Given the description of an element on the screen output the (x, y) to click on. 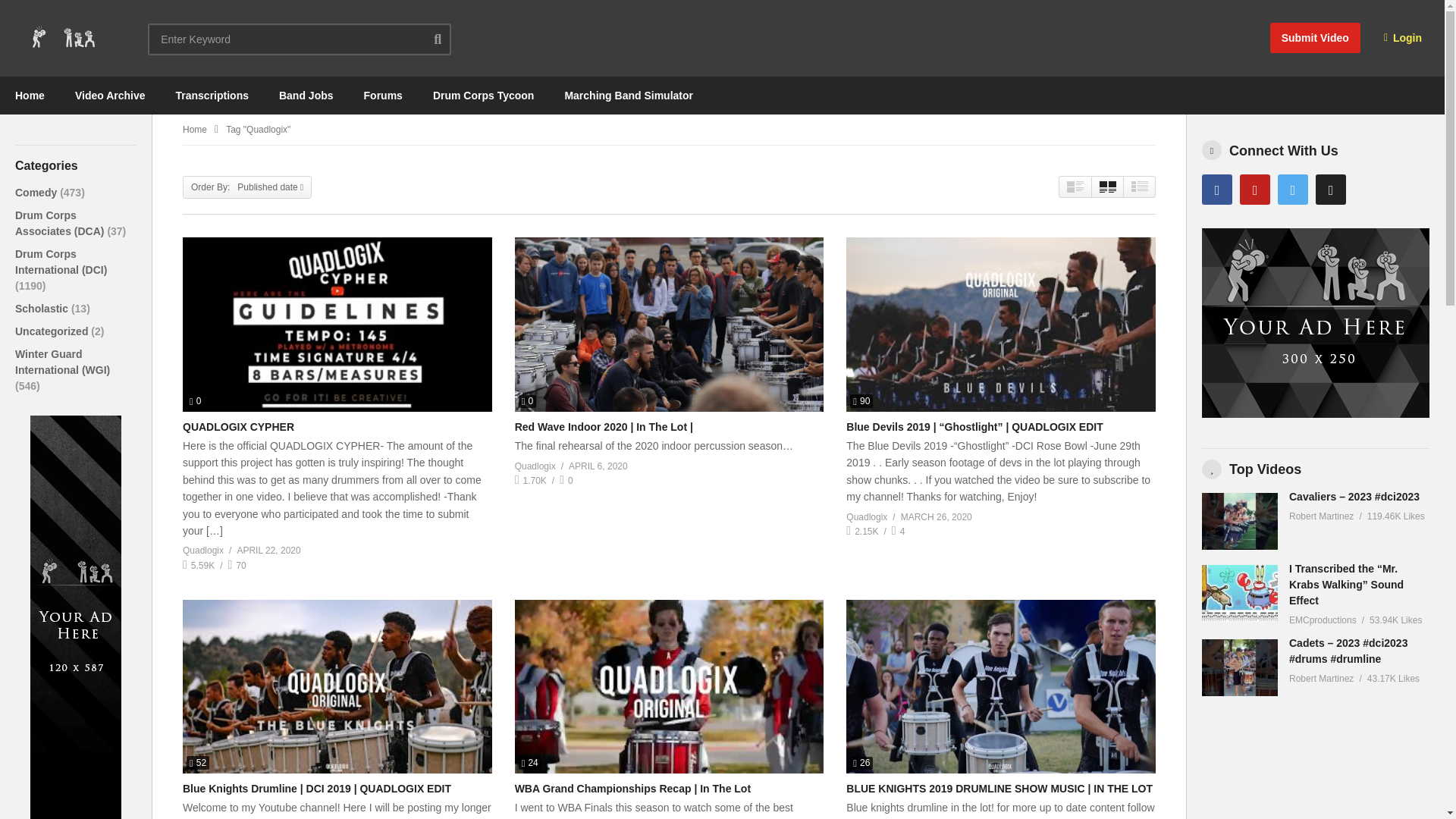
Drum Corps Tycoon (483, 95)
QUADLOGIX CYPHER (238, 426)
Band Jobs (306, 95)
Transcriptions (211, 95)
LotHype.com (62, 37)
Comedy (36, 192)
Home (29, 95)
QUADLOGIX CYPHER (337, 324)
 Login (1402, 38)
APRIL 22, 2020 (267, 550)
